Given the description of an element on the screen output the (x, y) to click on. 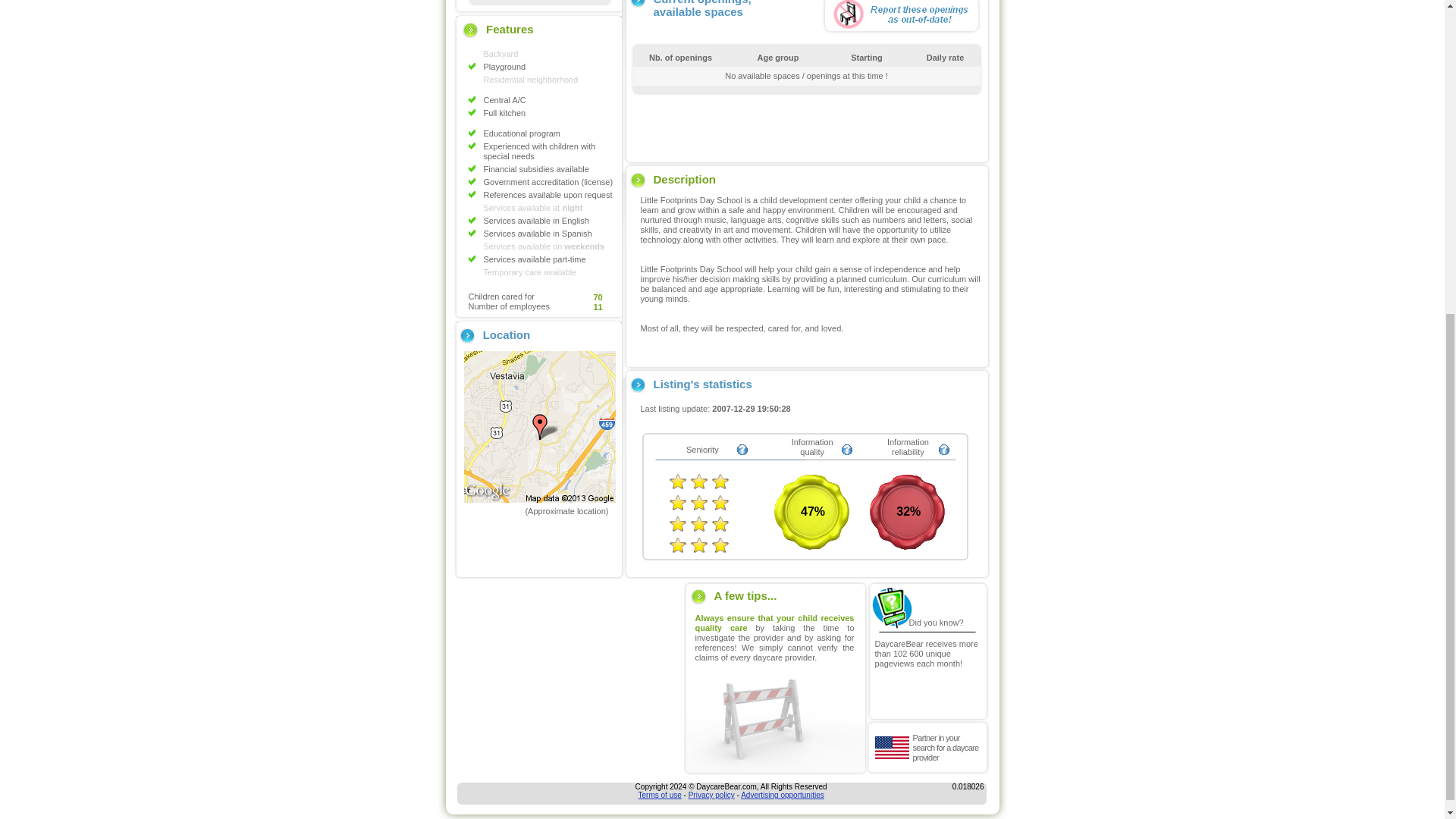
Advertisement (806, 125)
Advertising opportunities (782, 795)
Privacy policy (711, 795)
Terms of use (660, 795)
